Given the description of an element on the screen output the (x, y) to click on. 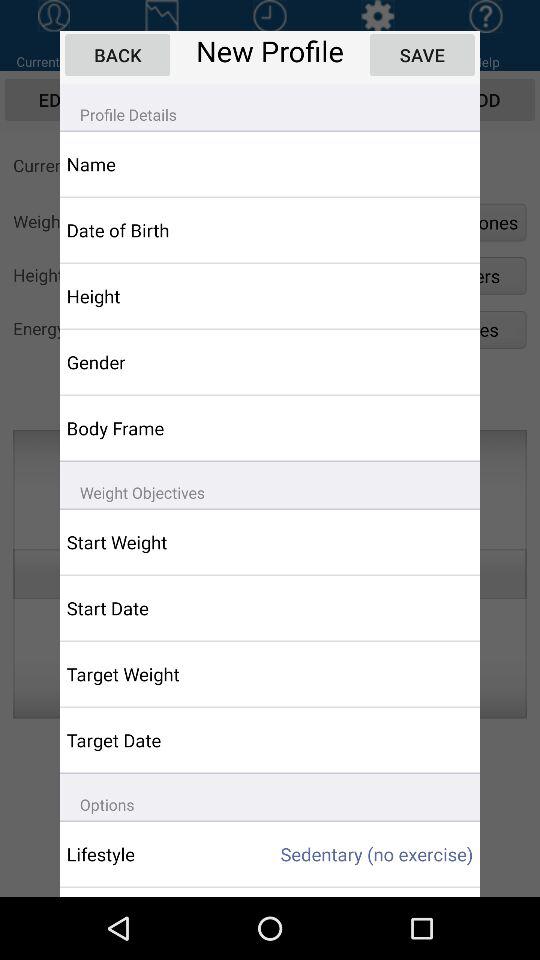
scroll to the body frame item (156, 427)
